Given the description of an element on the screen output the (x, y) to click on. 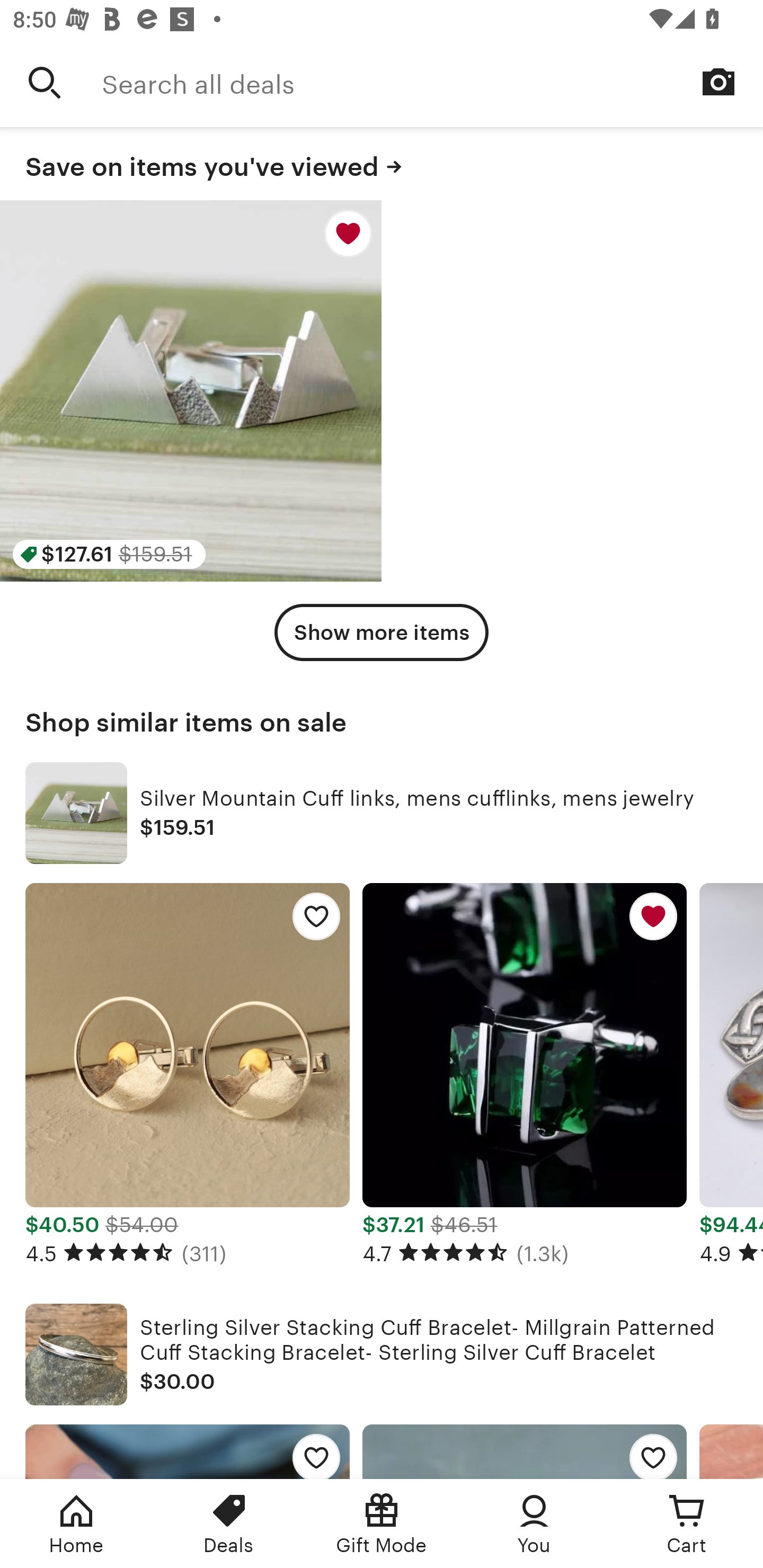
Search for anything on Etsy (44, 82)
Search by image (718, 81)
Search all deals (432, 82)
Save on items you've viewed (381, 164)
Show more items (381, 632)
Home (76, 1523)
Gift Mode (381, 1523)
You (533, 1523)
Cart (686, 1523)
